Given the description of an element on the screen output the (x, y) to click on. 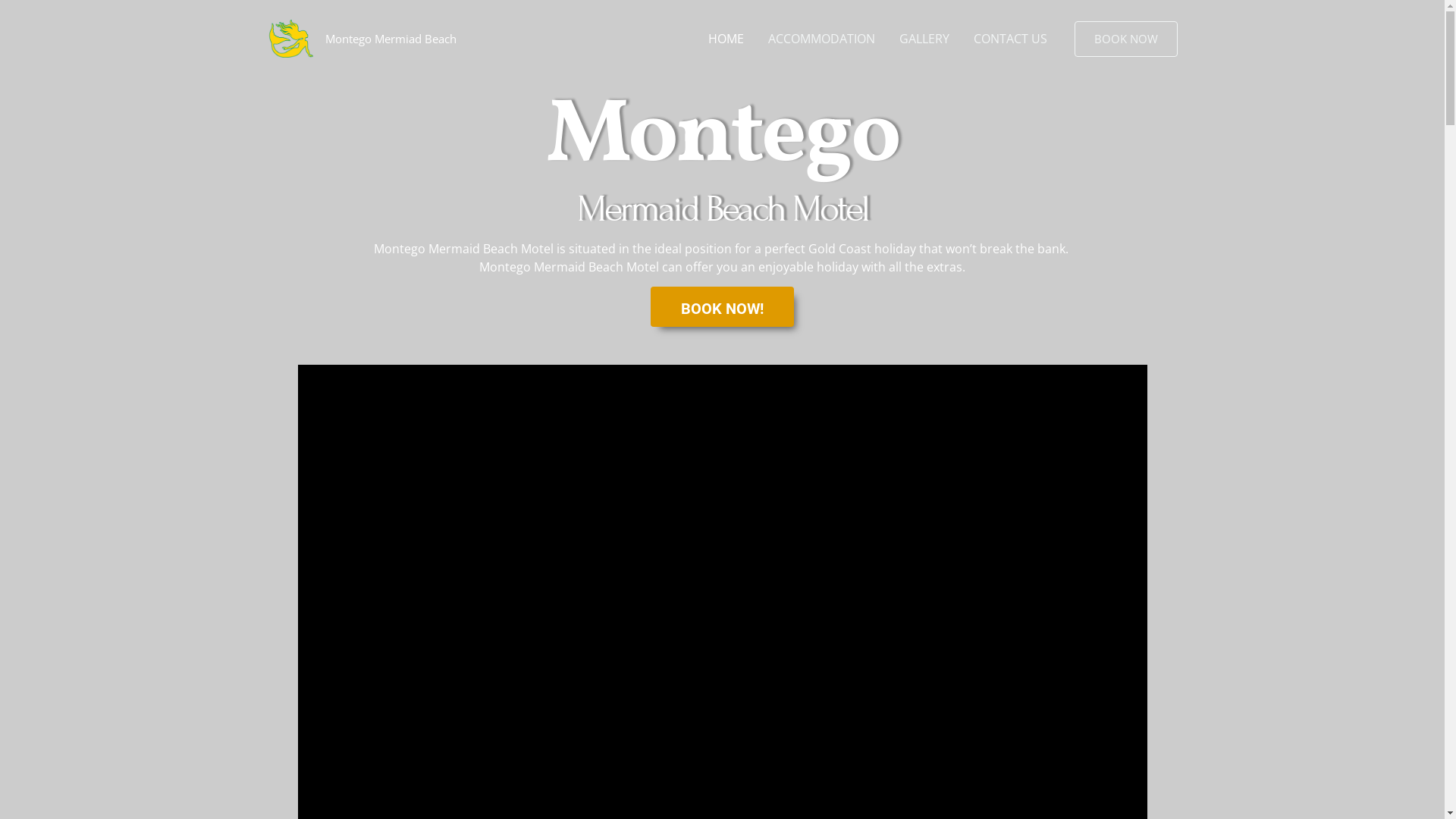
BOOK NOW Element type: text (1124, 38)
ACCOMMODATION Element type: text (820, 38)
CONTACT US Element type: text (1010, 38)
HOME Element type: text (726, 38)
BOOK NOW! Element type: text (721, 306)
GALLERY Element type: text (924, 38)
